Given the description of an element on the screen output the (x, y) to click on. 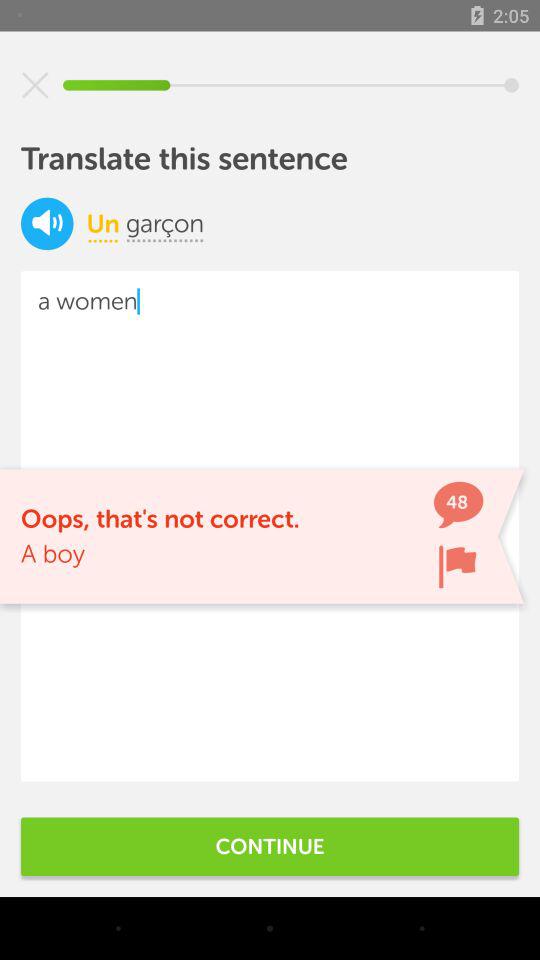
select the item to the right of   item (165, 223)
